Given the description of an element on the screen output the (x, y) to click on. 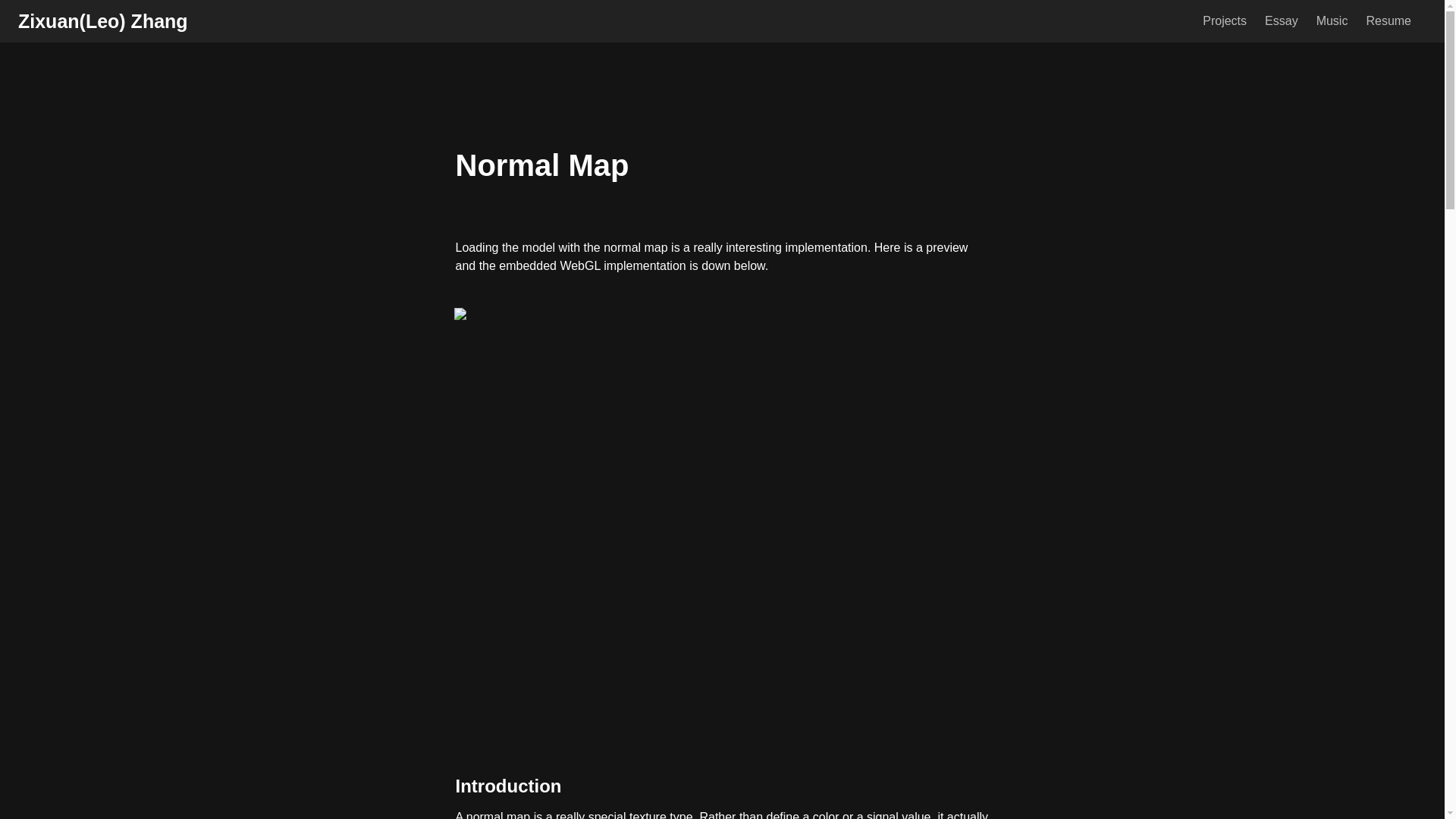
Resume (1388, 21)
Projects (1224, 21)
Essay (1281, 21)
Music (1331, 21)
